Given the description of an element on the screen output the (x, y) to click on. 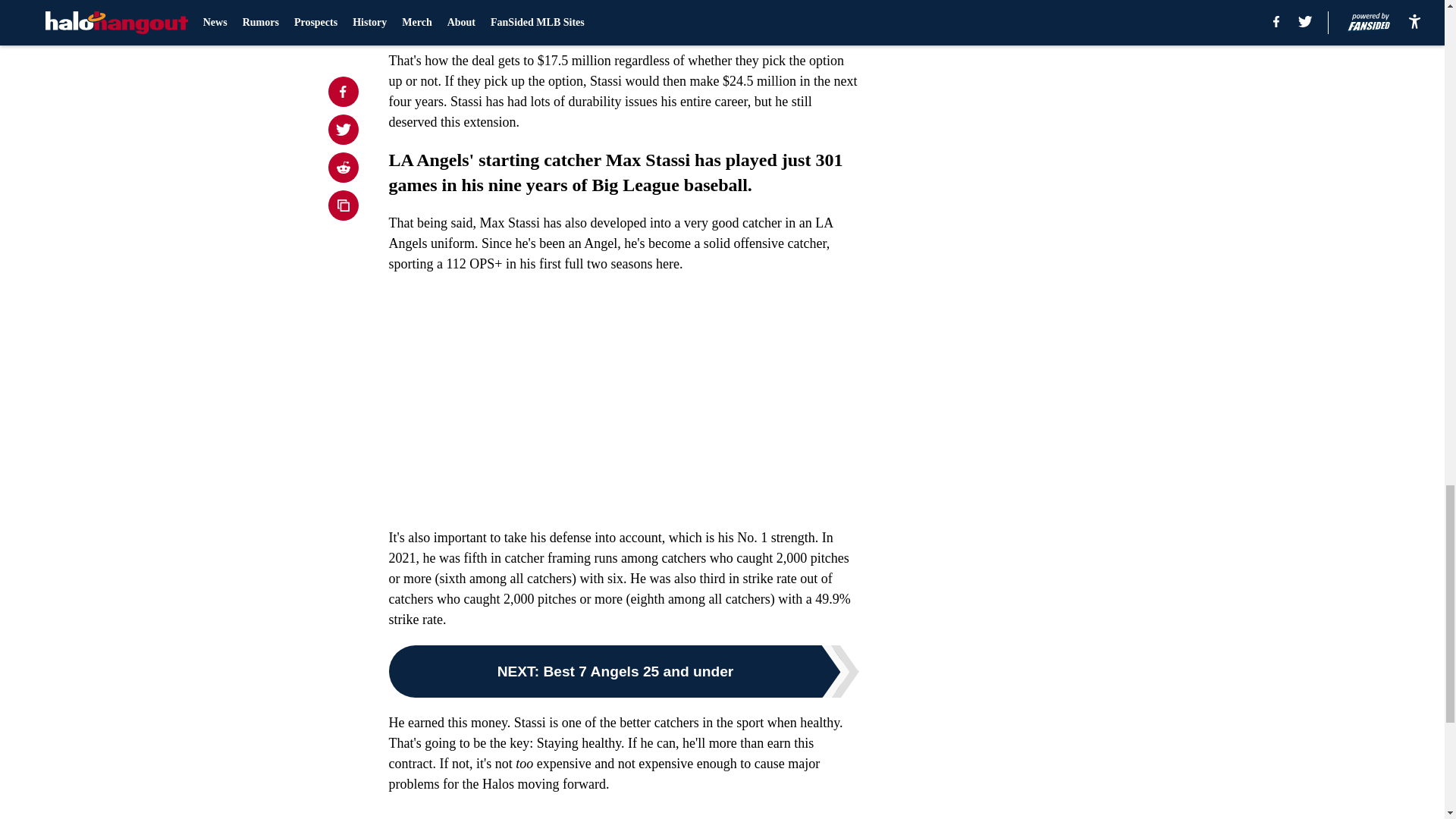
NEXT: Best 7 Angels 25 and under (623, 671)
